Given the description of an element on the screen output the (x, y) to click on. 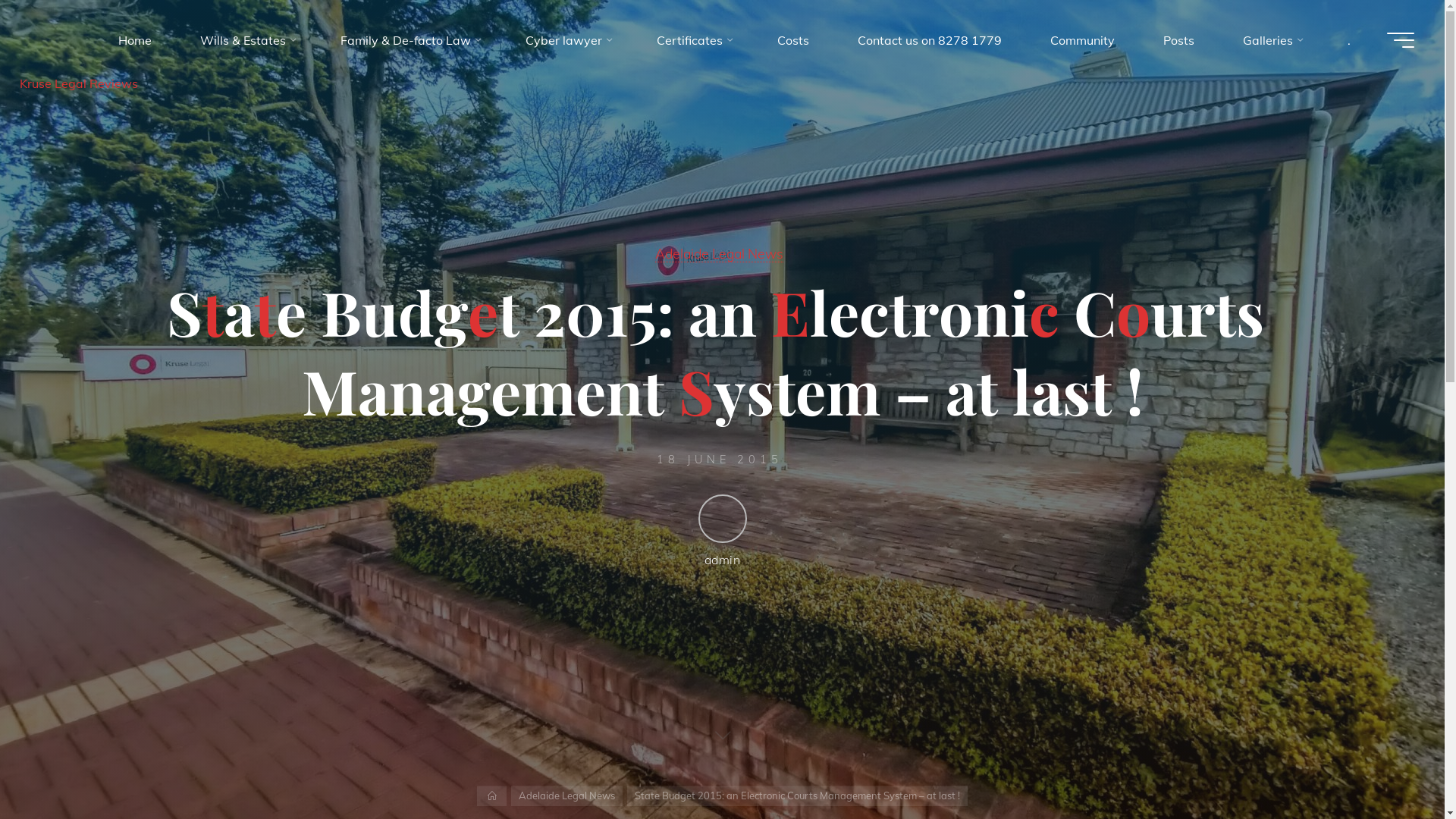
Contact us on 8278 1779 Element type: text (929, 39)
Wills & Estates Element type: text (245, 39)
Kruse Legal Reviews Element type: text (245, 83)
Community Element type: text (1082, 39)
Certificates Element type: text (692, 39)
admin Element type: text (721, 530)
Cyber lawyer Element type: text (566, 39)
Adelaide Legal News Element type: text (719, 253)
Family & De-facto Law Element type: text (408, 39)
Costs Element type: text (793, 39)
Galleries Element type: text (1270, 39)
Read more Element type: hover (721, 726)
Home Element type: text (134, 39)
Posts Element type: text (1178, 39)
Home Element type: text (491, 795)
Adelaide Legal News Element type: text (566, 795)
. Element type: text (1348, 39)
